Given the description of an element on the screen output the (x, y) to click on. 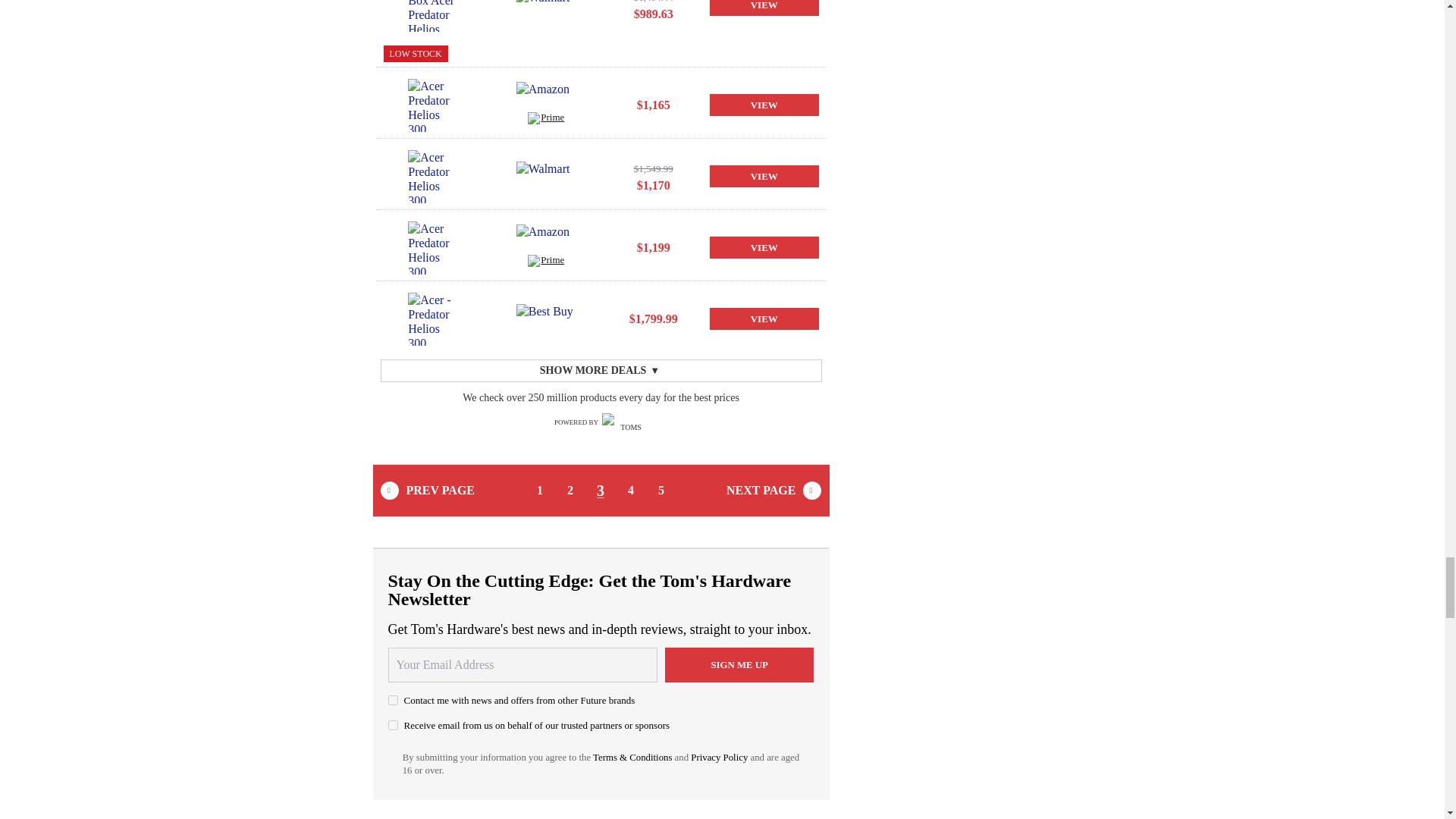
Acer Predator Helios 300... (437, 247)
Open Box Acer Predator Helios... (437, 15)
Sign me up (739, 664)
Toms Hardware (624, 422)
Prime (546, 262)
Walmart (546, 10)
Acer Predator Helios 300... (437, 104)
Acer Predator Helios 300... (437, 176)
on (392, 700)
on (392, 725)
